Given the description of an element on the screen output the (x, y) to click on. 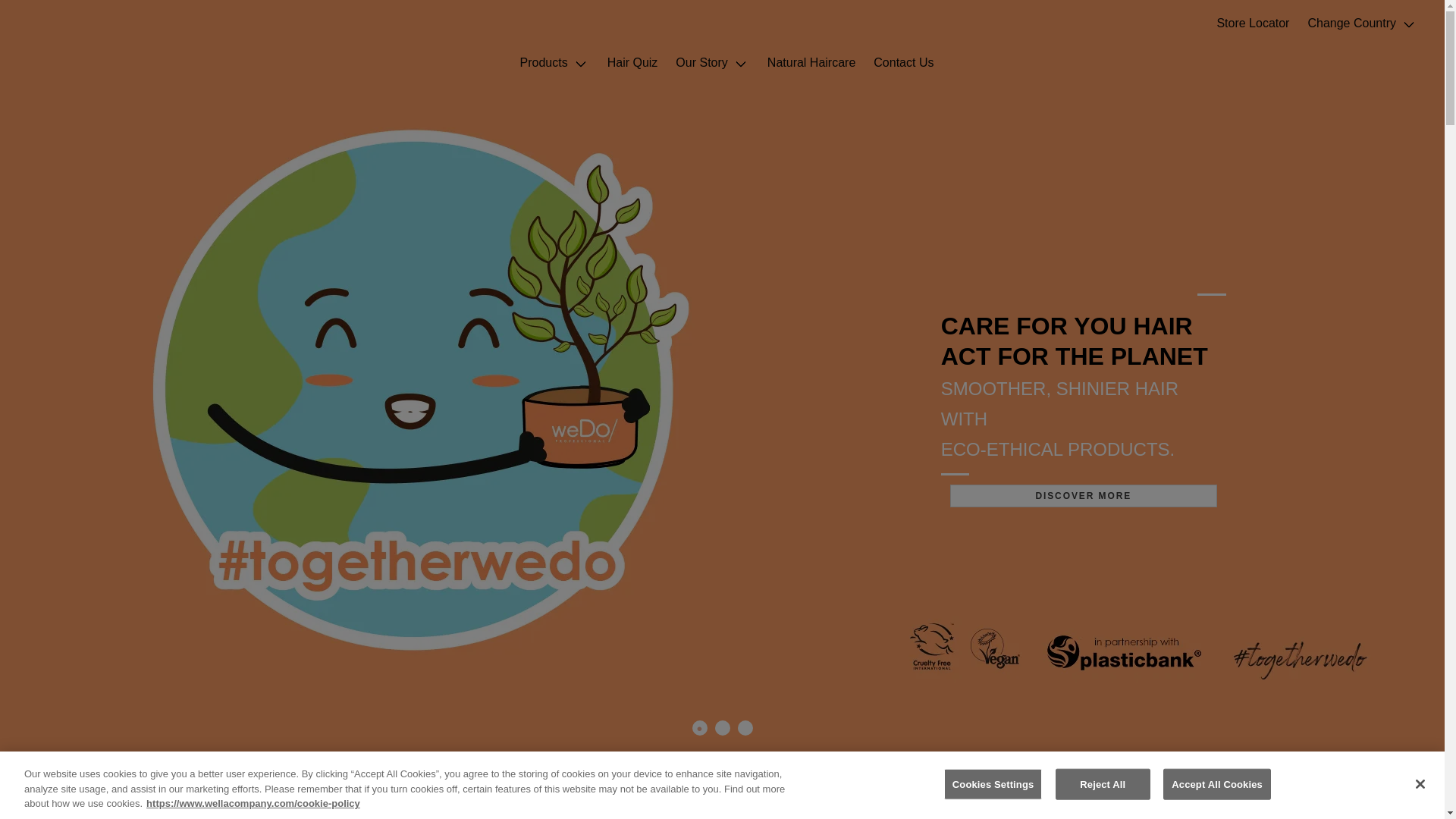
Hair Quiz (632, 61)
Our Story (711, 61)
Contact Us (903, 61)
Natural Haircare (811, 61)
Products (554, 61)
Store Locator (1252, 23)
